Given the description of an element on the screen output the (x, y) to click on. 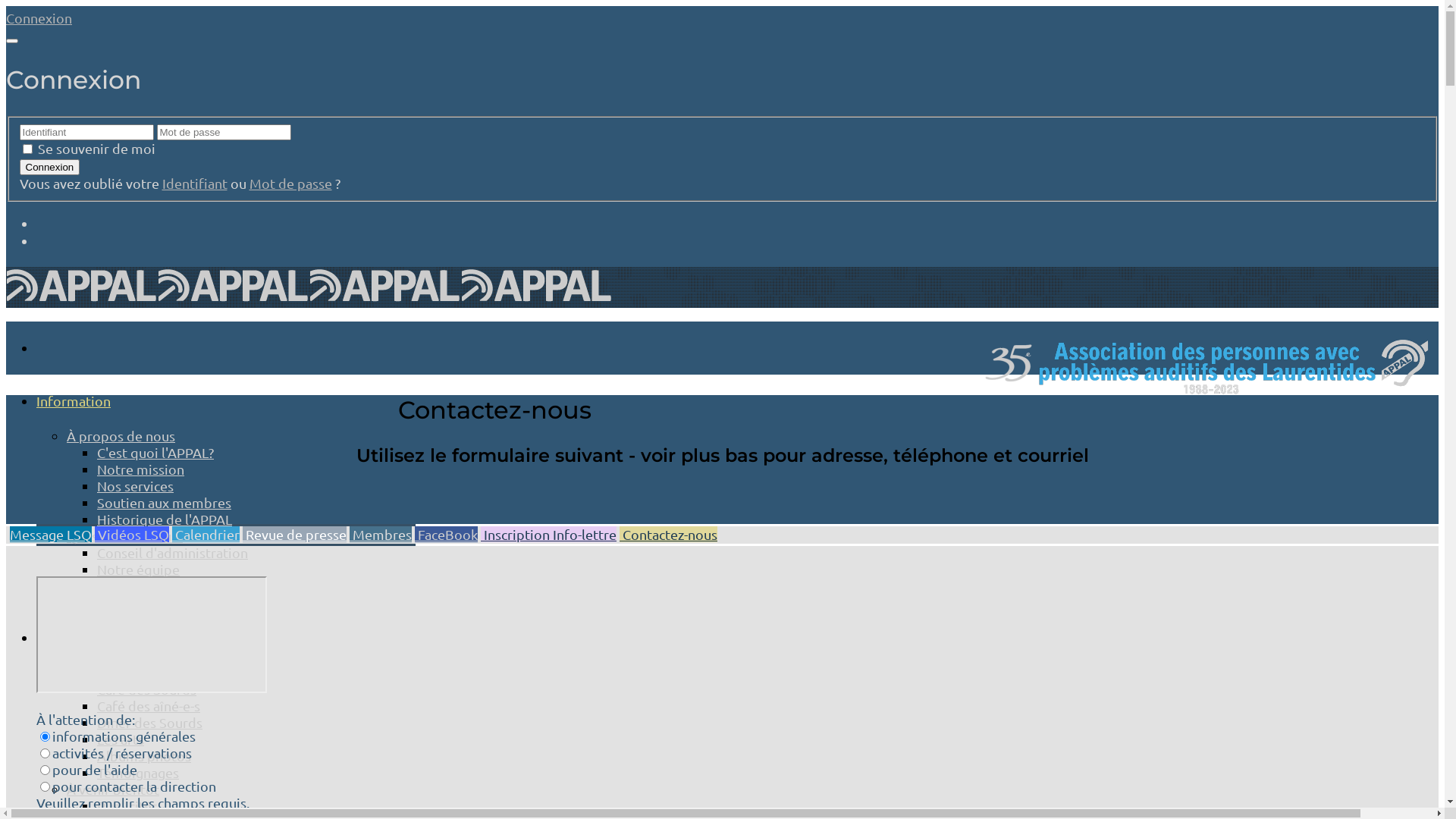
Notre mission Element type: text (140, 468)
Inscription Info-lettre Element type: text (548, 534)
Revue de presse Element type: text (294, 534)
Qui sommes-nous? Element type: text (124, 535)
YouTube video player Element type: hover (151, 634)
Message LSQ Element type: text (50, 534)
Les arts Element type: text (120, 738)
Calendrier Element type: text (205, 534)
Contactez-nous Element type: text (668, 534)
Identifiant Element type: text (194, 183)
Connexion Element type: text (39, 17)
Membres Element type: text (380, 534)
Mot de passe Element type: text (289, 183)
C'est quoi l'APPAL? Element type: text (155, 452)
Connexion Element type: text (49, 167)
Hommages Element type: text (132, 585)
Albums photos Element type: text (144, 755)
Nos services Element type: text (135, 485)
Vie Associative Element type: text (113, 672)
FaceBook Element type: text (445, 534)
Information Element type: text (73, 400)
Historique de l'APPAL Element type: text (164, 519)
Soutien aux membres Element type: text (164, 502)
Conseil d'administration Element type: text (172, 552)
